Given the description of an element on the screen output the (x, y) to click on. 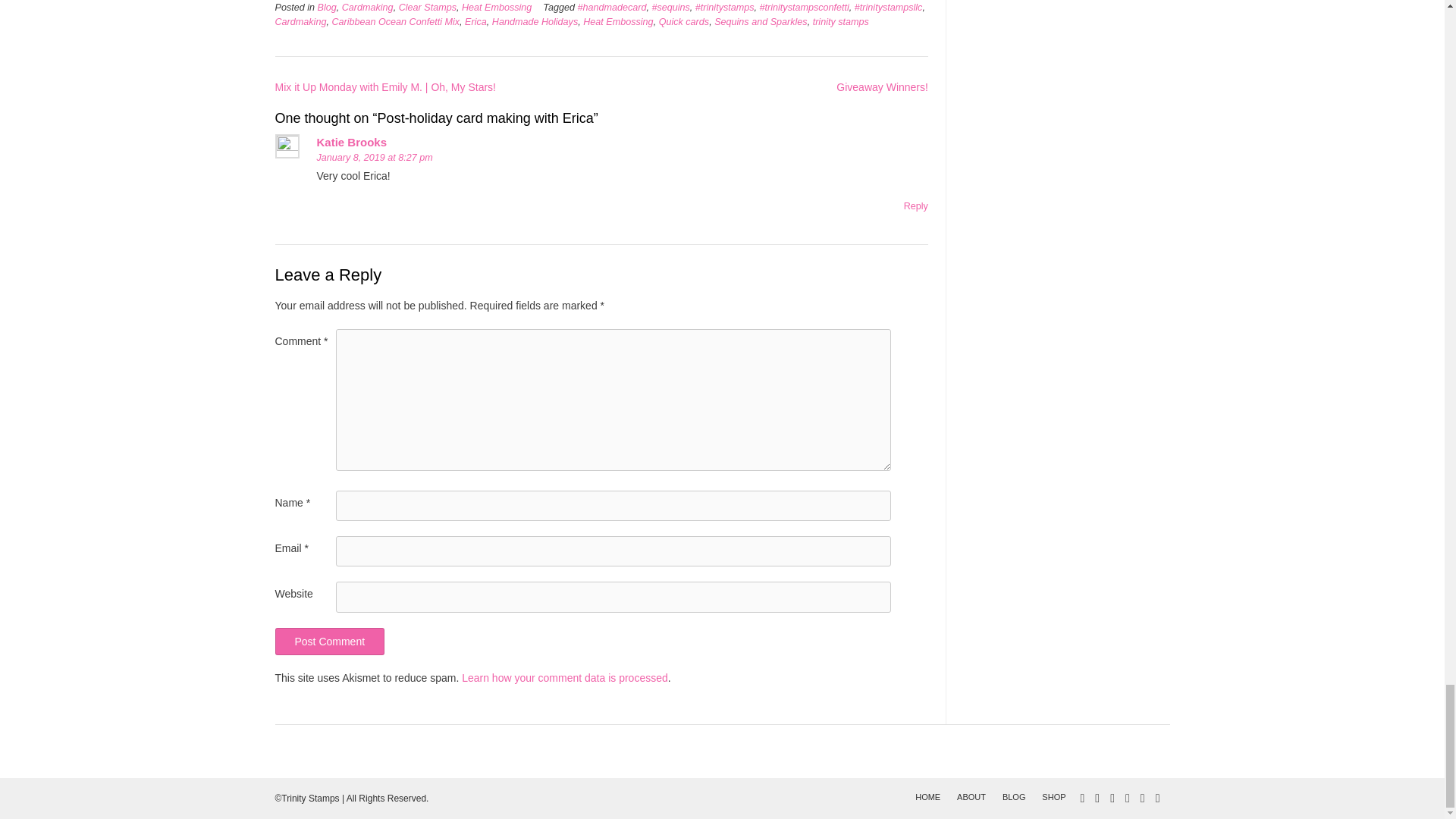
Erica (475, 21)
Giveaway Winners! (881, 87)
Learn how your comment data is processed (564, 677)
January 8, 2019 at 8:27 pm (374, 157)
Katie Brooks (352, 141)
Handmade Holidays (535, 21)
Clear Stamps (427, 7)
Post Comment (329, 641)
Cardmaking (367, 7)
Heat Embossing (617, 21)
Caribbean Ocean Confetti Mix (395, 21)
Reply (916, 205)
Blog (326, 7)
Sequins and Sparkles (761, 21)
Cardmaking (300, 21)
